Given the description of an element on the screen output the (x, y) to click on. 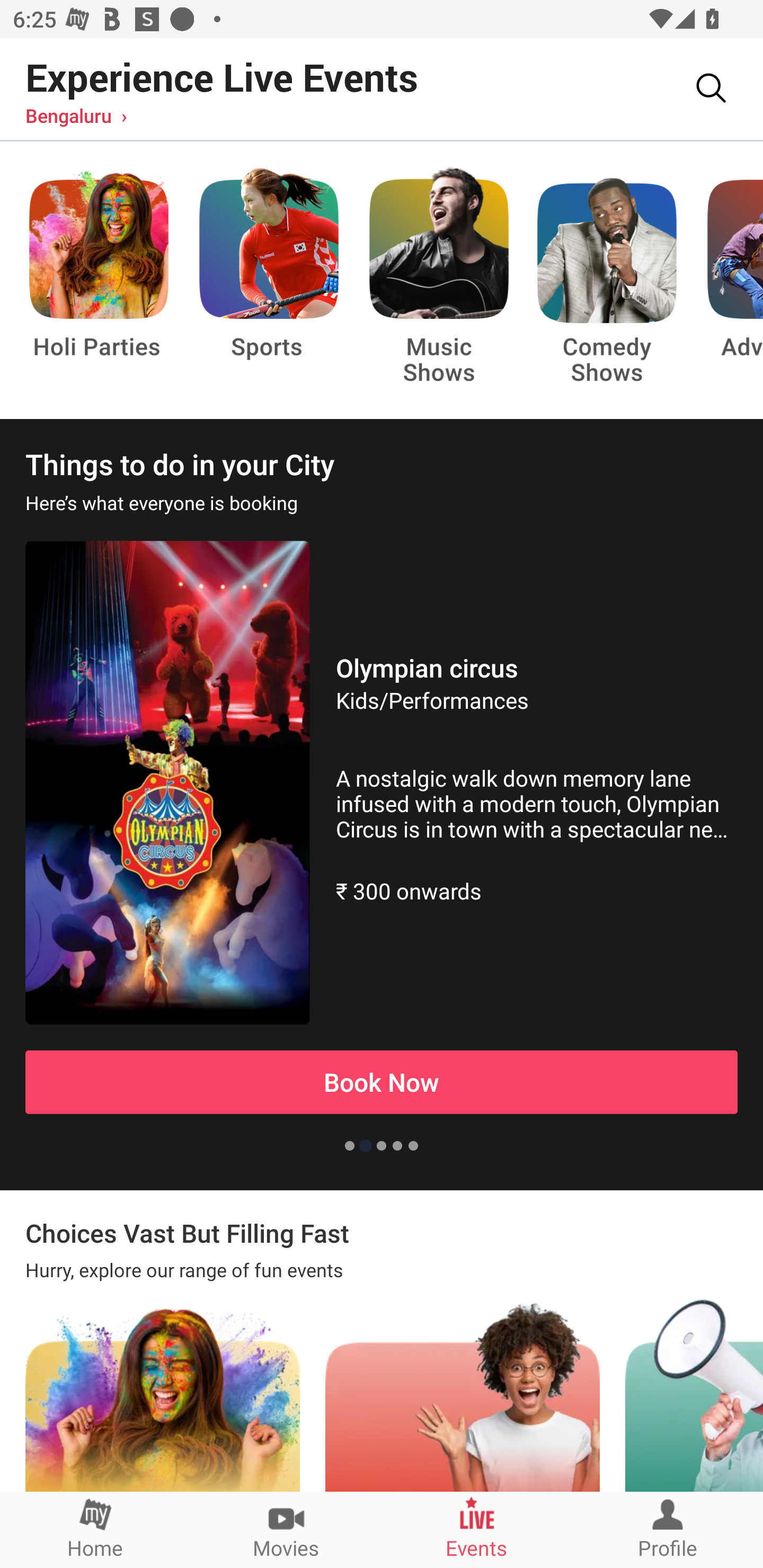
Bengaluru  › (76, 114)
Book Now (381, 1081)
Home (95, 1529)
Movies (285, 1529)
Events (476, 1529)
Profile (667, 1529)
